Given the description of an element on the screen output the (x, y) to click on. 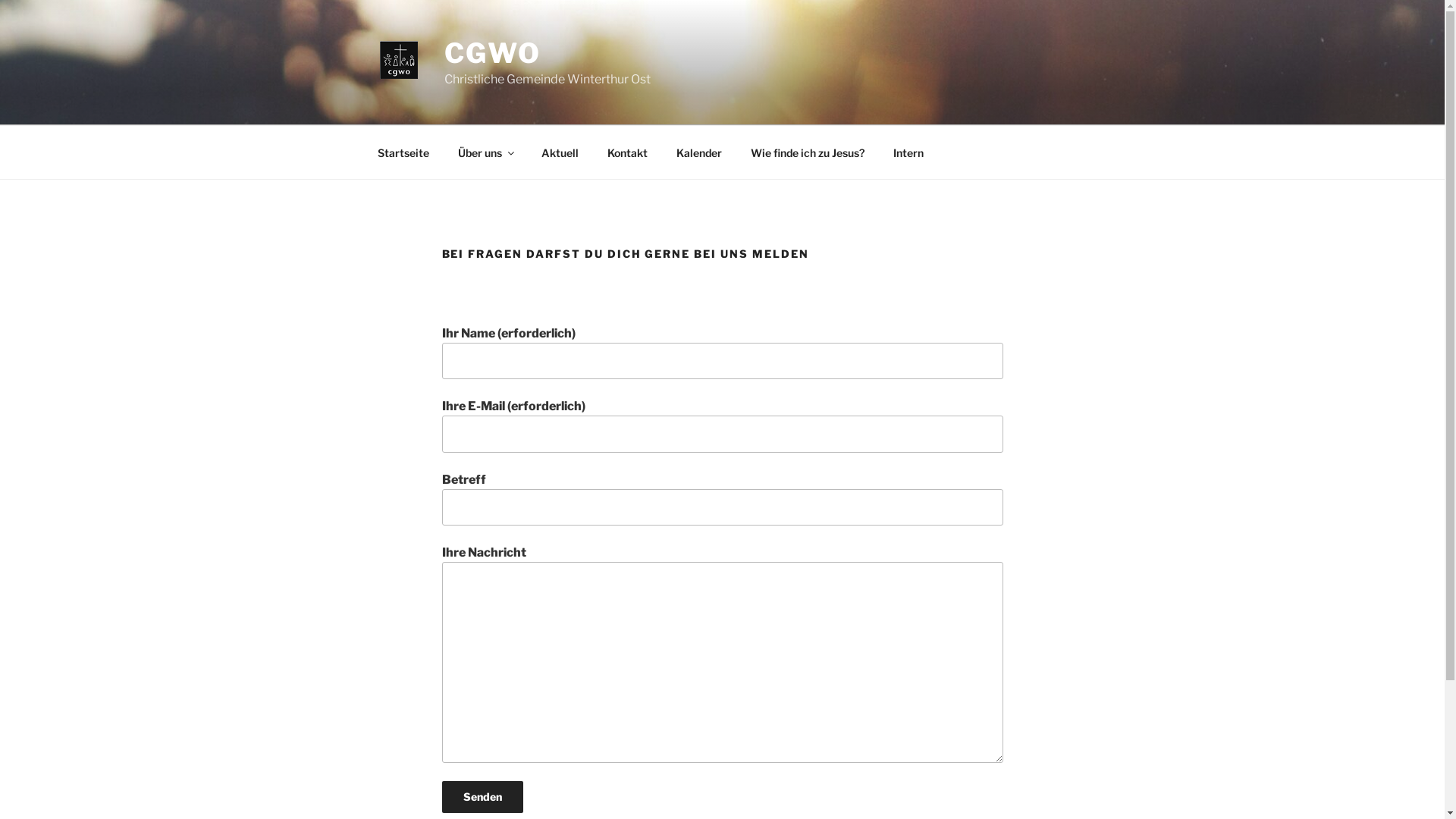
Wie finde ich zu Jesus? Element type: text (807, 151)
Kalender Element type: text (698, 151)
Startseite Element type: text (403, 151)
Kontakt Element type: text (627, 151)
Senden Element type: text (481, 796)
Aktuell Element type: text (559, 151)
CGWO Element type: text (493, 52)
Intern Element type: text (907, 151)
